Given the description of an element on the screen output the (x, y) to click on. 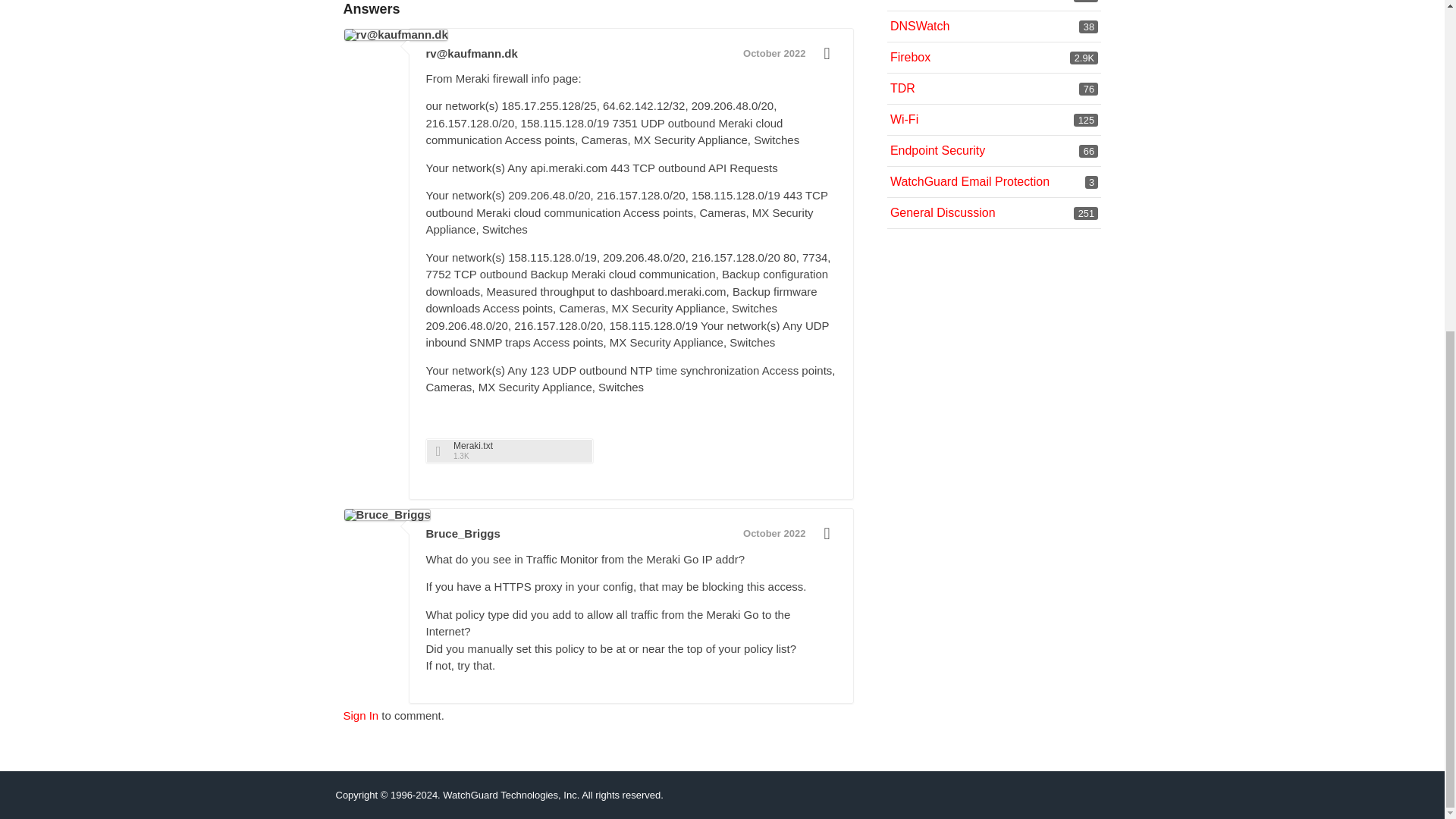
66 discussions (919, 25)
76 discussions (1088, 151)
October 9, 2022 3:54PM (937, 150)
Sign In (1088, 89)
October 10, 2022 3:46AM (773, 52)
38 discussions (360, 715)
Meraki.txt (773, 532)
October 2022 (1088, 26)
275 discussions (509, 450)
